Given the description of an element on the screen output the (x, y) to click on. 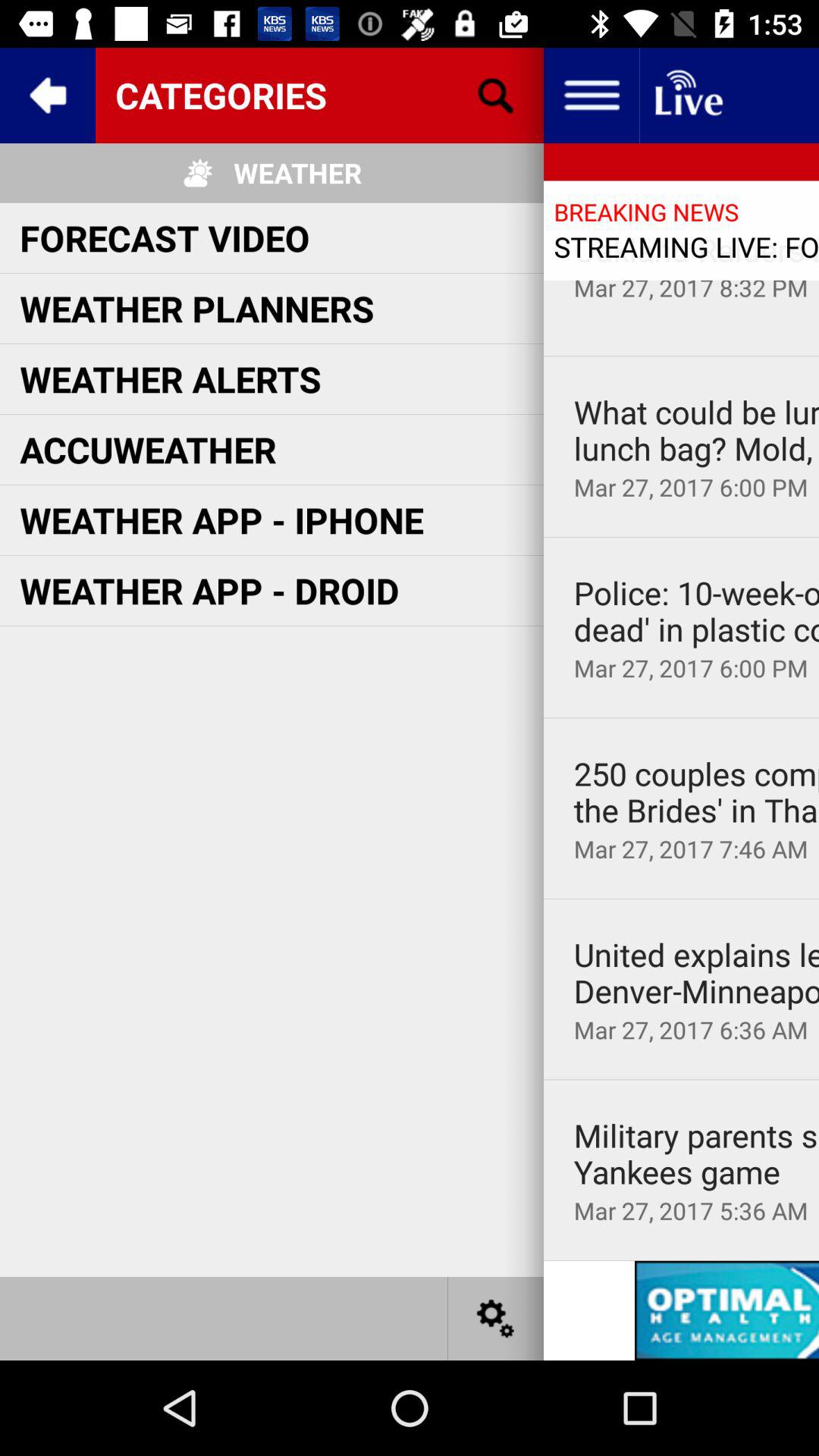
go to settings (495, 1318)
